Given the description of an element on the screen output the (x, y) to click on. 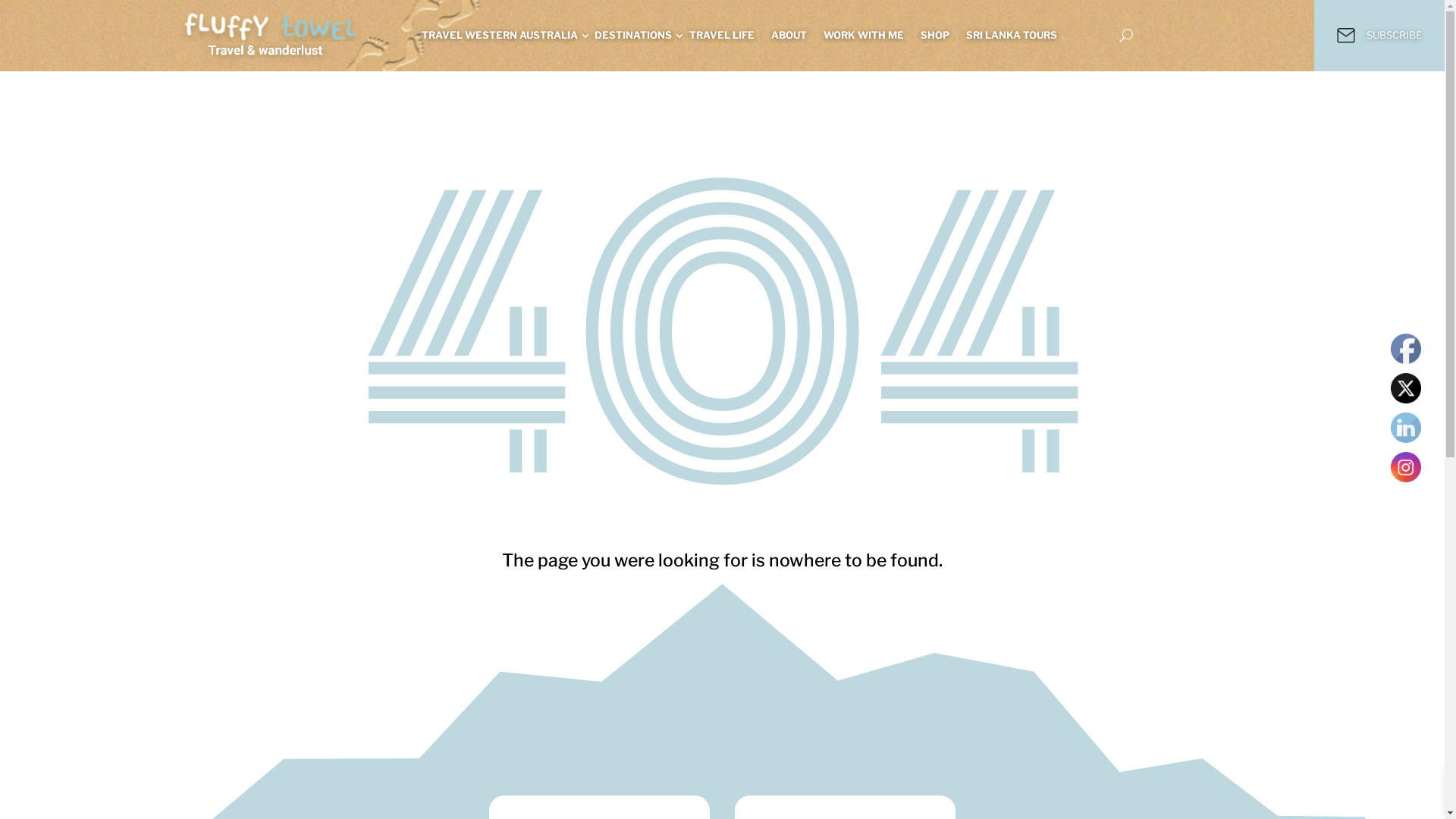
Facebook Element type: hover (1405, 348)
WORK WITH ME Element type: text (863, 35)
TRAVEL WESTERN AUSTRALIA Element type: text (500, 35)
SHOP Element type: text (934, 35)
SUBSCRIBE Element type: text (1378, 35)
ABOUT Element type: text (788, 35)
TRAVEL LIFE Element type: text (721, 35)
LinkedIn Element type: hover (1405, 427)
Instagram Element type: hover (1405, 466)
Twitter Element type: hover (1405, 388)
SRI LANKA TOURS Element type: text (1011, 35)
DESTINATIONS Element type: text (633, 35)
